Given the description of an element on the screen output the (x, y) to click on. 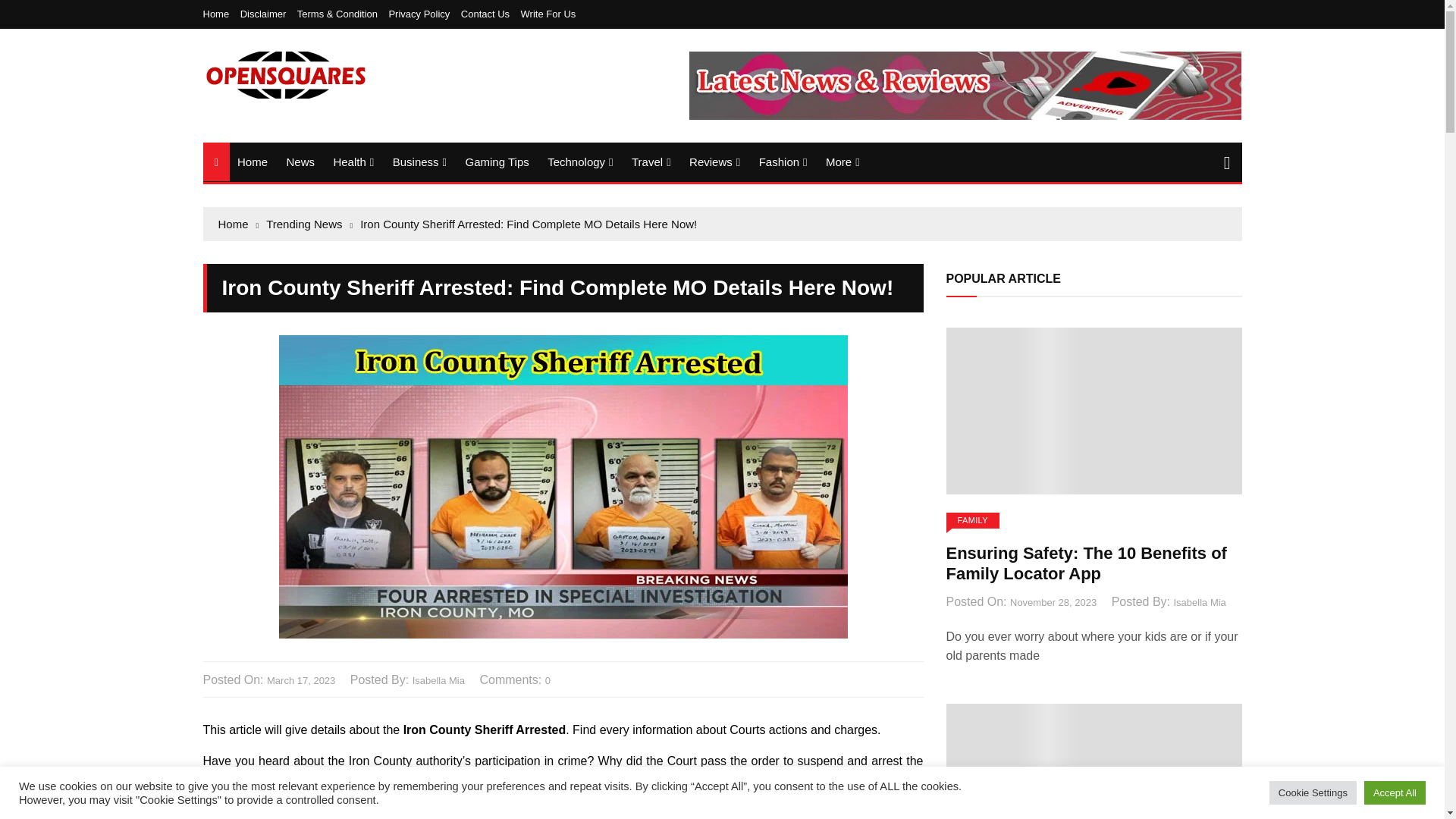
Business (419, 161)
Disclaimer (267, 13)
Write For Us (548, 13)
Home (220, 13)
Privacy Policy (422, 13)
Technology (580, 161)
Home (252, 161)
Travel (651, 161)
Gaming Tips (497, 161)
Reviews (714, 161)
Contact Us (488, 13)
Health (352, 161)
News (299, 161)
